Given the description of an element on the screen output the (x, y) to click on. 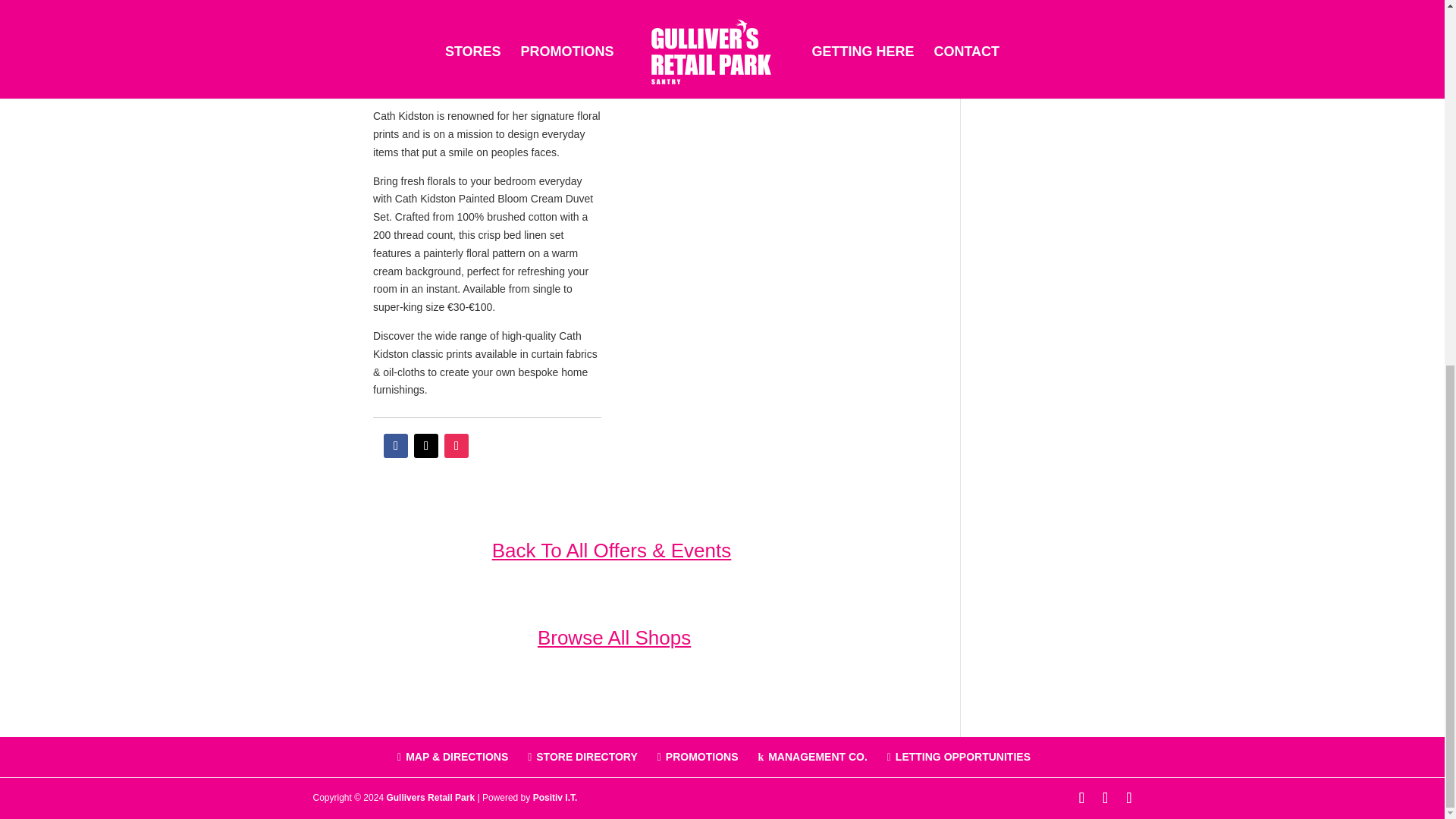
Follow on Facebook (395, 445)
Homefocus. (422, 87)
Positiv I.T. (555, 797)
Follow on Instagram (456, 445)
Gullivers Retail Park (429, 797)
Contact Us (429, 797)
MANAGEMENT CO. (817, 756)
PROMOTIONS (701, 756)
LETTING OPPORTUNITIES (962, 756)
Follow on Twitter (425, 445)
